Given the description of an element on the screen output the (x, y) to click on. 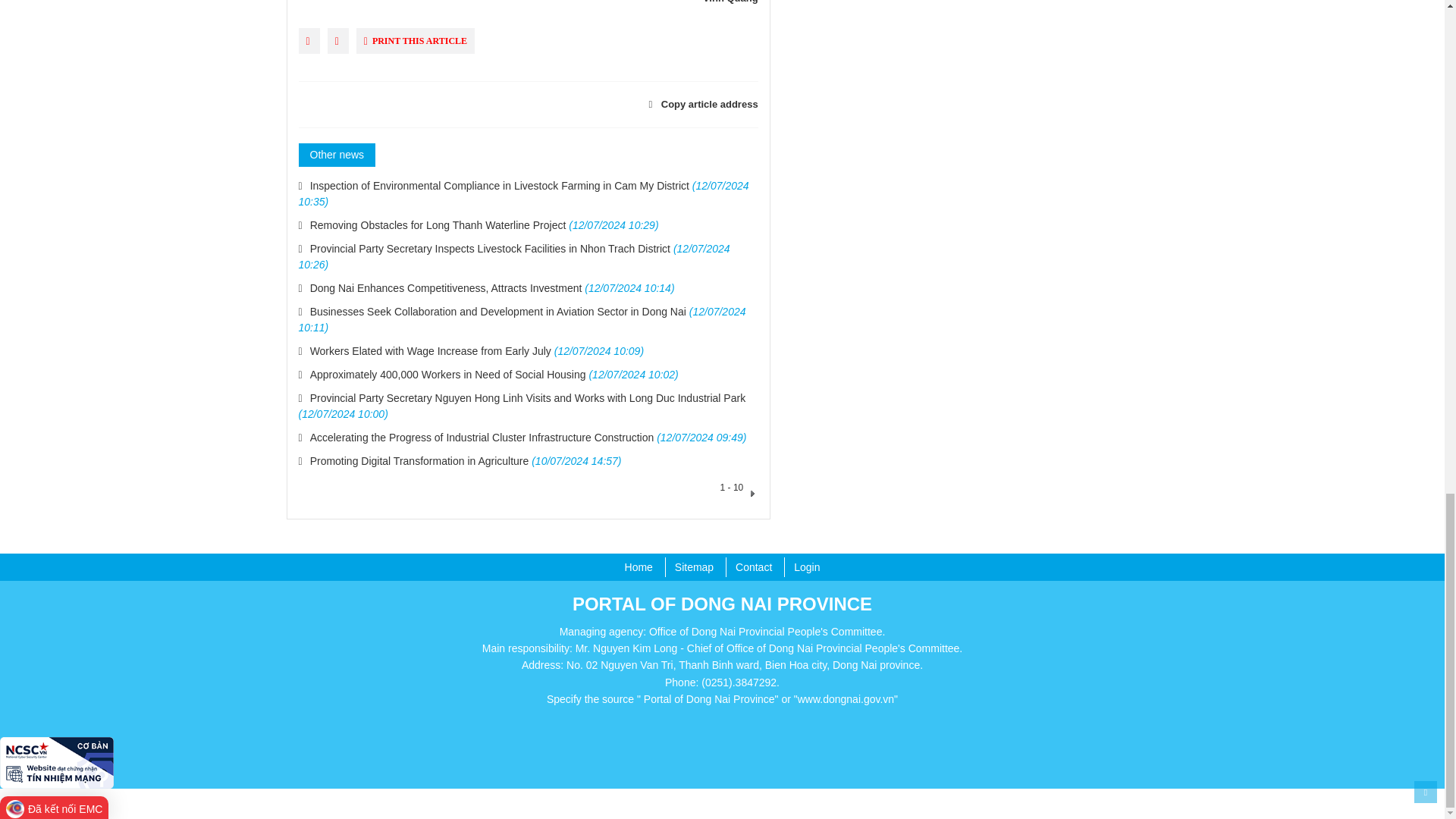
Copy article address (692, 103)
PRINT THIS ARTICLE (415, 40)
Chung nhan Tin Nhiem Mang (56, 761)
